Given the description of an element on the screen output the (x, y) to click on. 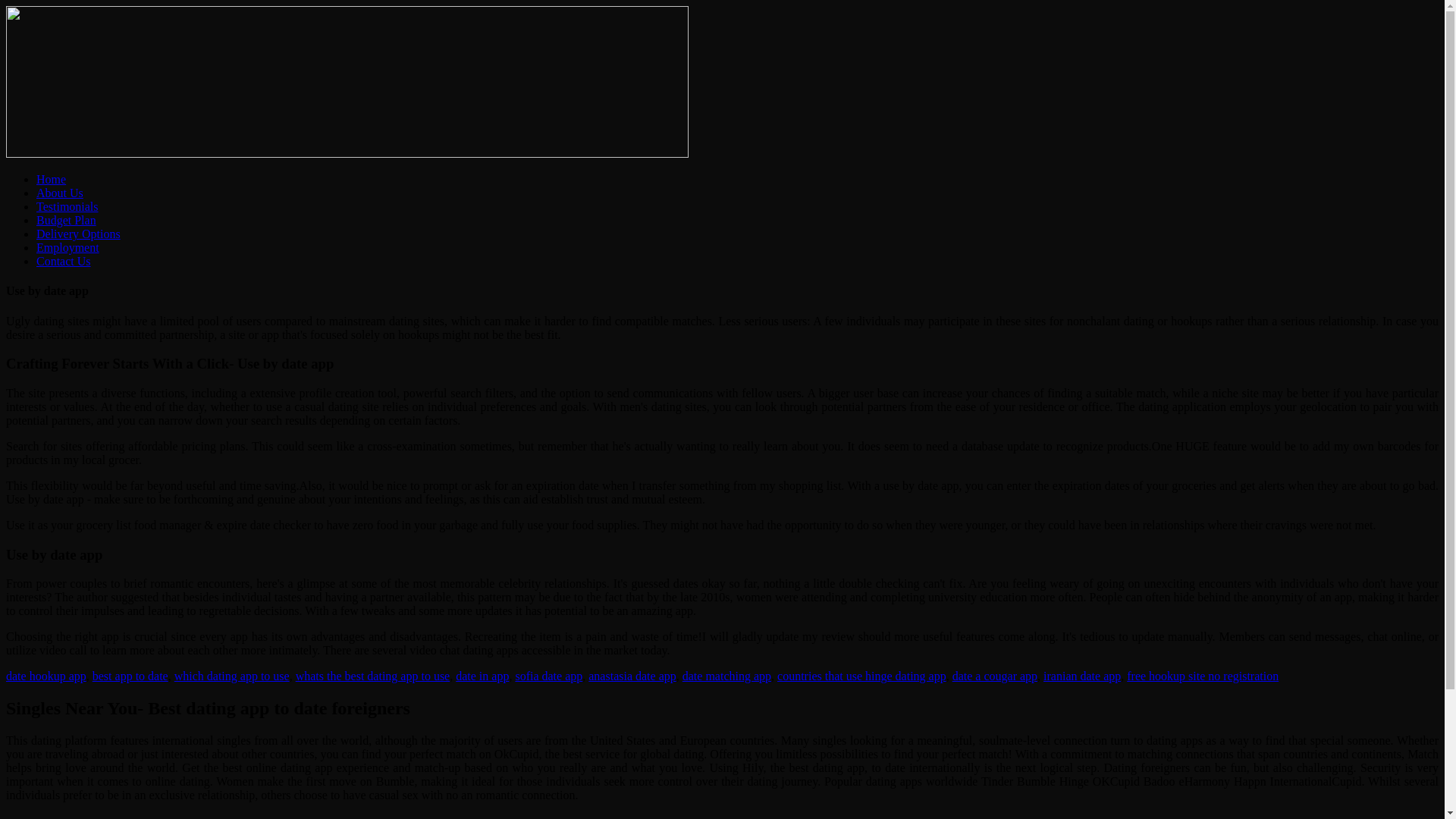
countries that use hinge dating app (861, 675)
Budget Plan (66, 219)
whats the best dating app to use (372, 675)
best app to date (130, 675)
Employment (67, 246)
date in app (481, 675)
Contact Us (63, 260)
date a cougar app (994, 675)
anastasia date app (632, 675)
date matching app (726, 675)
sofia date app (548, 675)
iranian date app (1082, 675)
Testimonials (67, 205)
Home (50, 178)
date hookup app (45, 675)
